Given the description of an element on the screen output the (x, y) to click on. 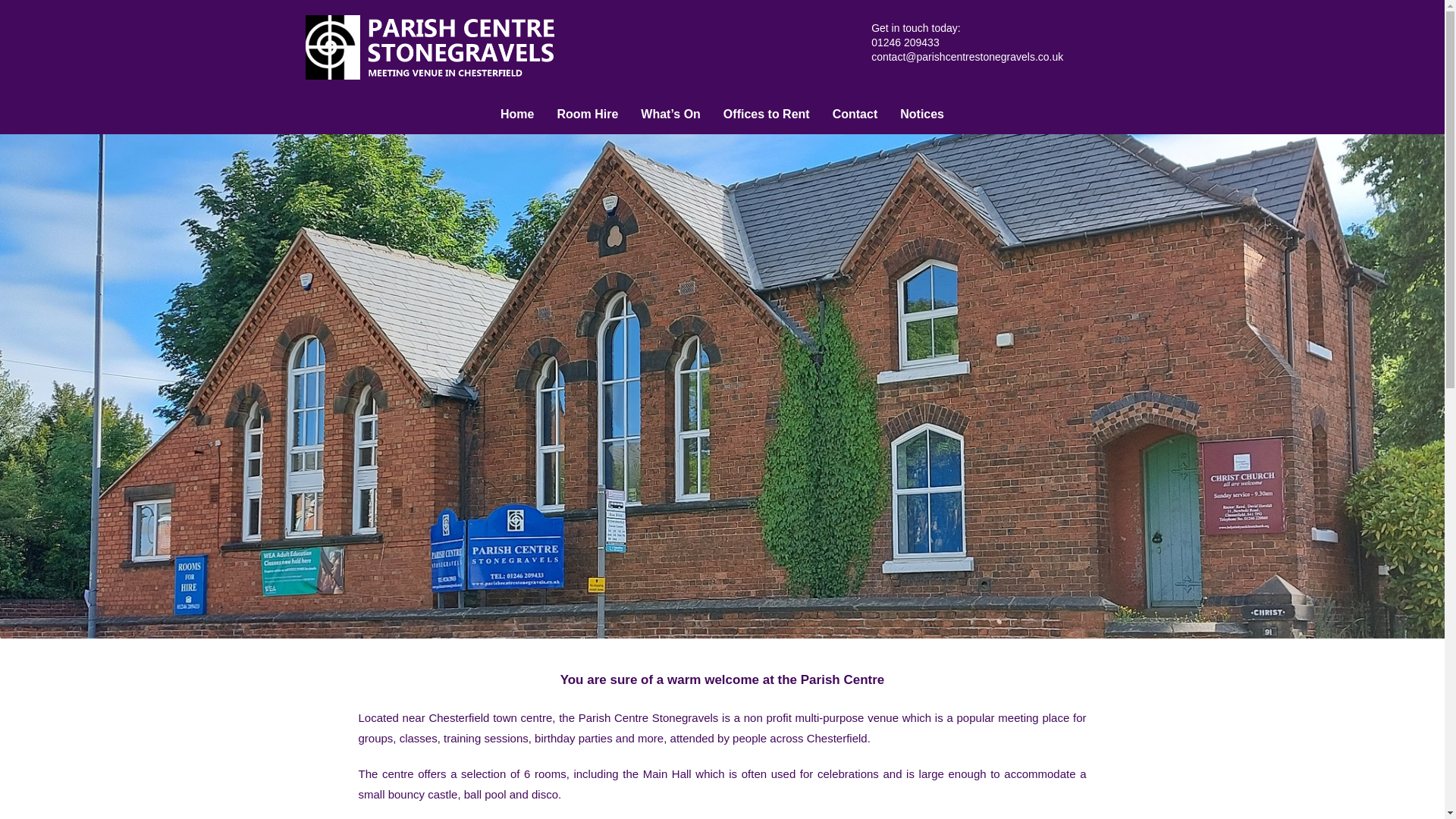
Room Hire (586, 114)
Home (516, 114)
Offices to Rent (766, 114)
Contact (855, 114)
Notices (921, 114)
